Given the description of an element on the screen output the (x, y) to click on. 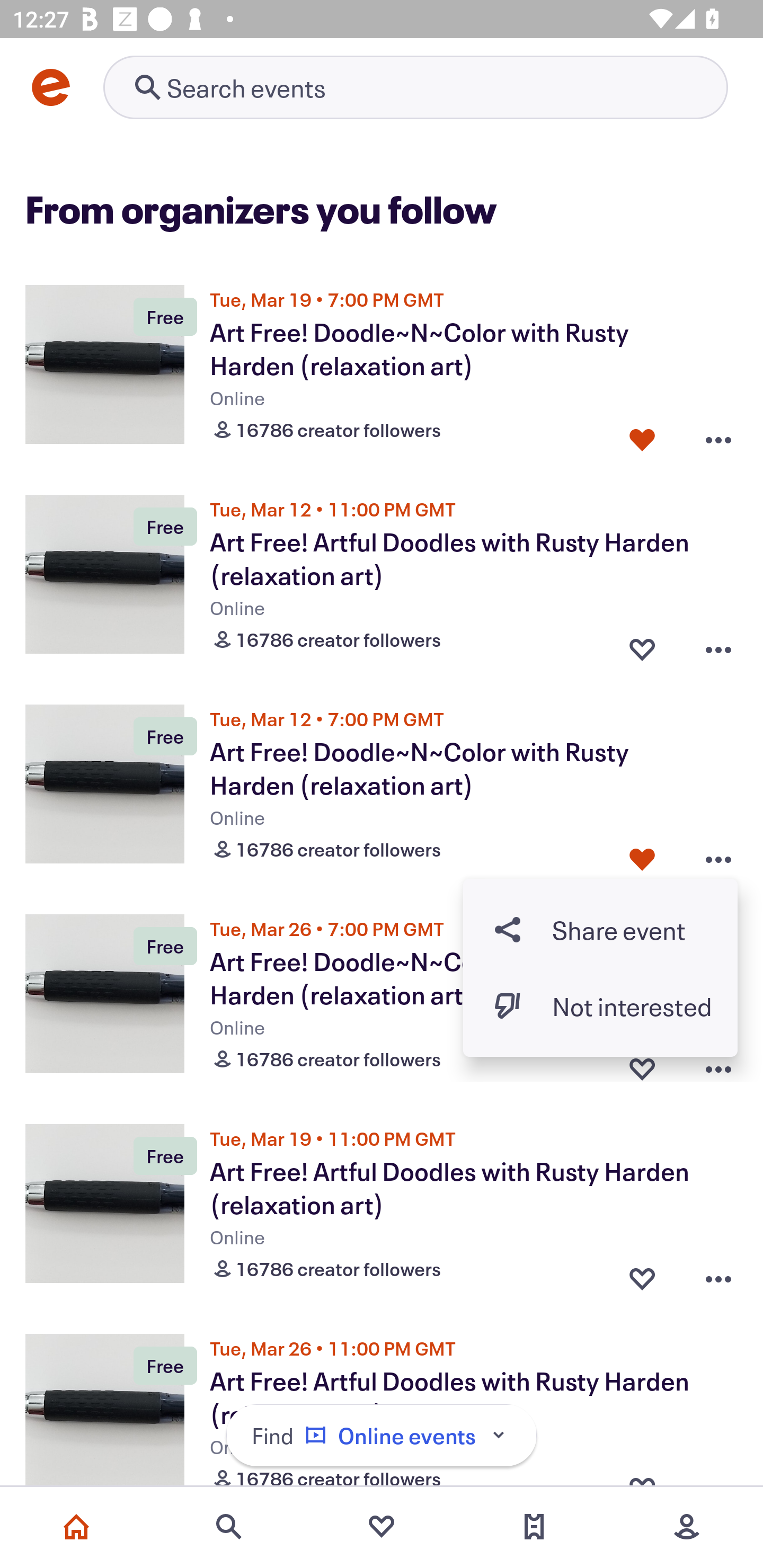
Share button Share event (600, 929)
Dislike event button Not interested (600, 1005)
